Given the description of an element on the screen output the (x, y) to click on. 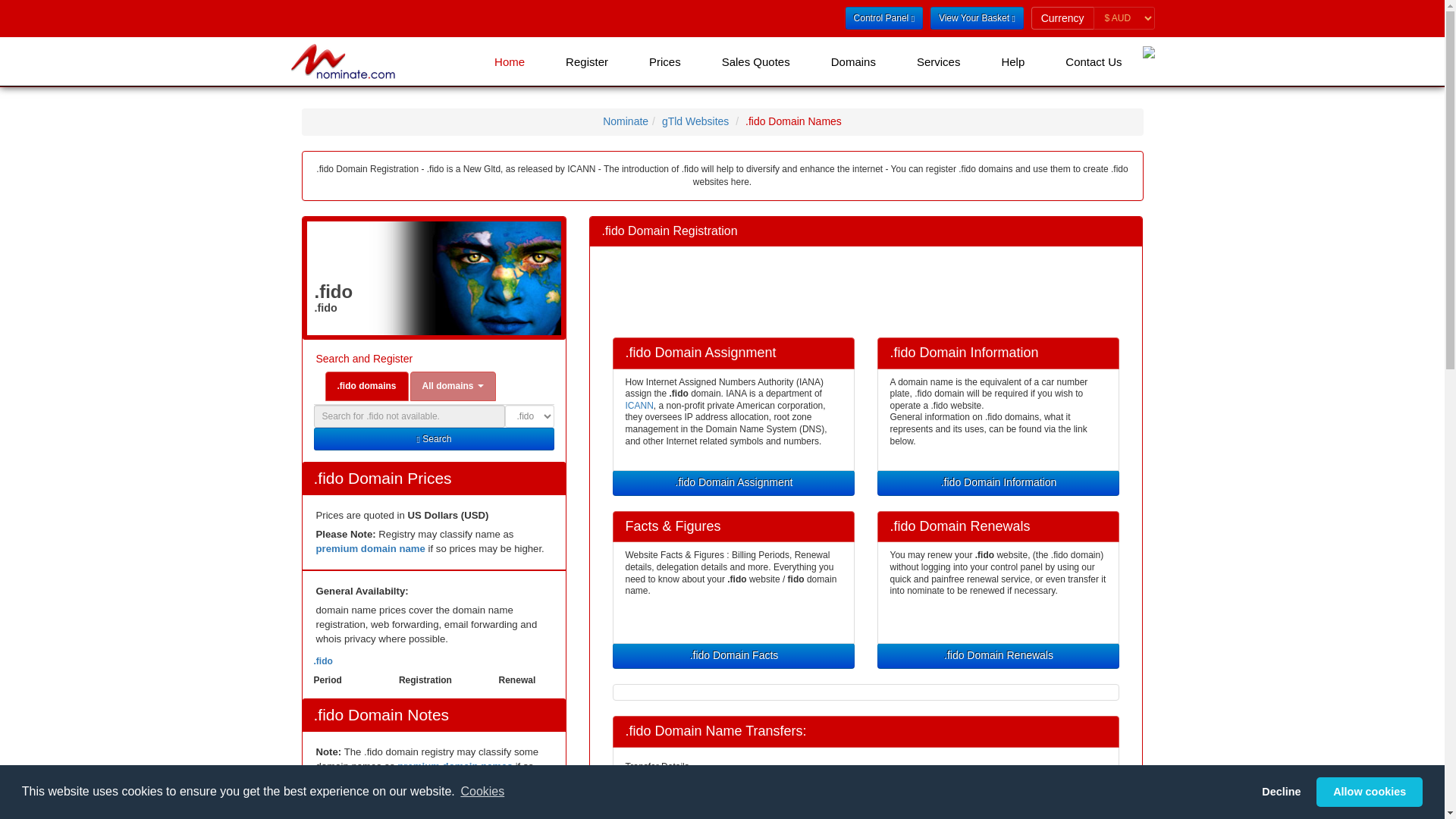
fido Domain Information (998, 483)
fido (733, 655)
Control Panel (884, 17)
fido Domain Assignment (733, 483)
Decline (1281, 791)
fido Domain Renewals (998, 655)
Prices (664, 61)
View Your Basket (976, 17)
Register (586, 61)
Sales Quotes (755, 61)
